Given the description of an element on the screen output the (x, y) to click on. 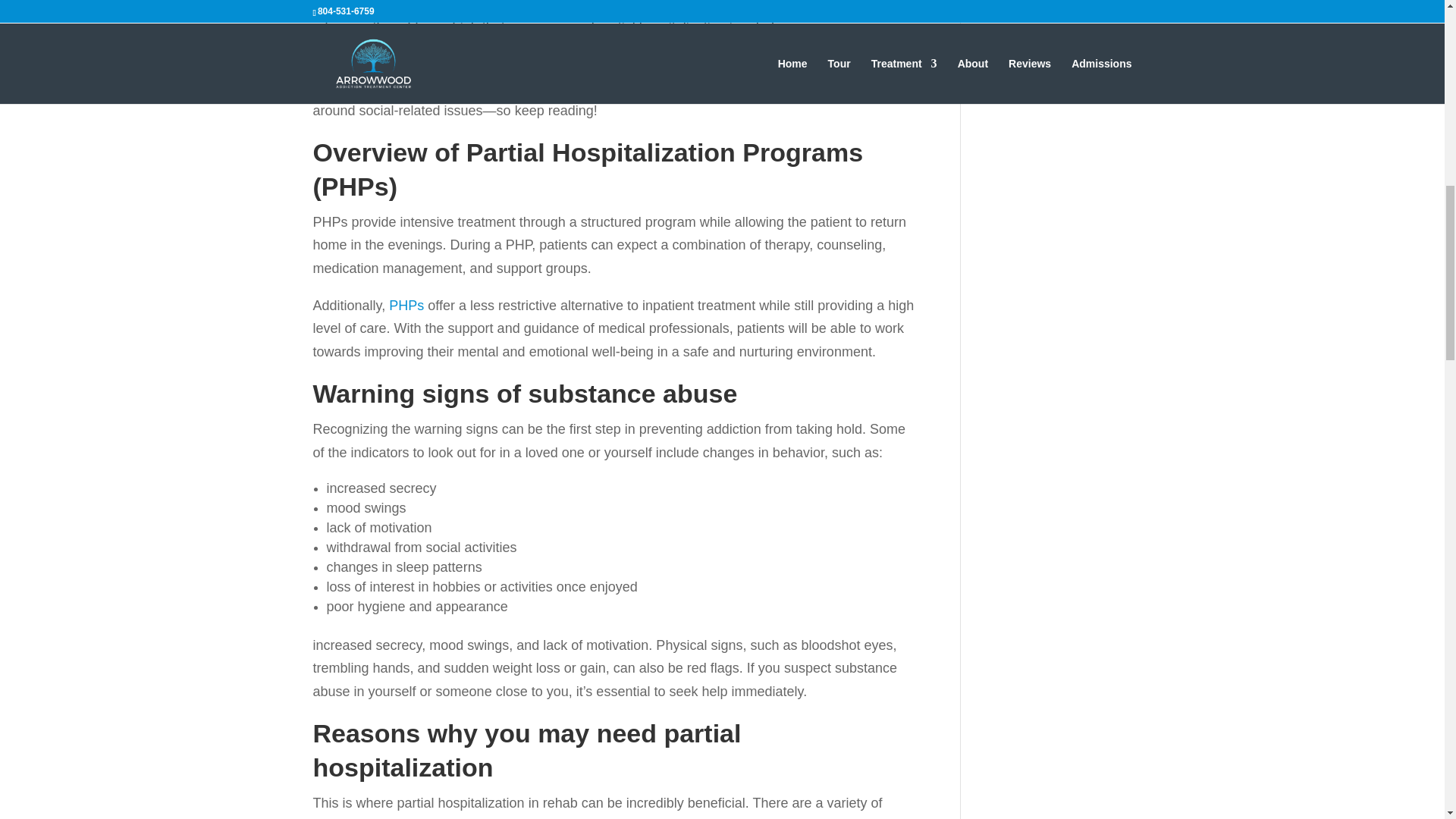
PHPs (405, 305)
